Given the description of an element on the screen output the (x, y) to click on. 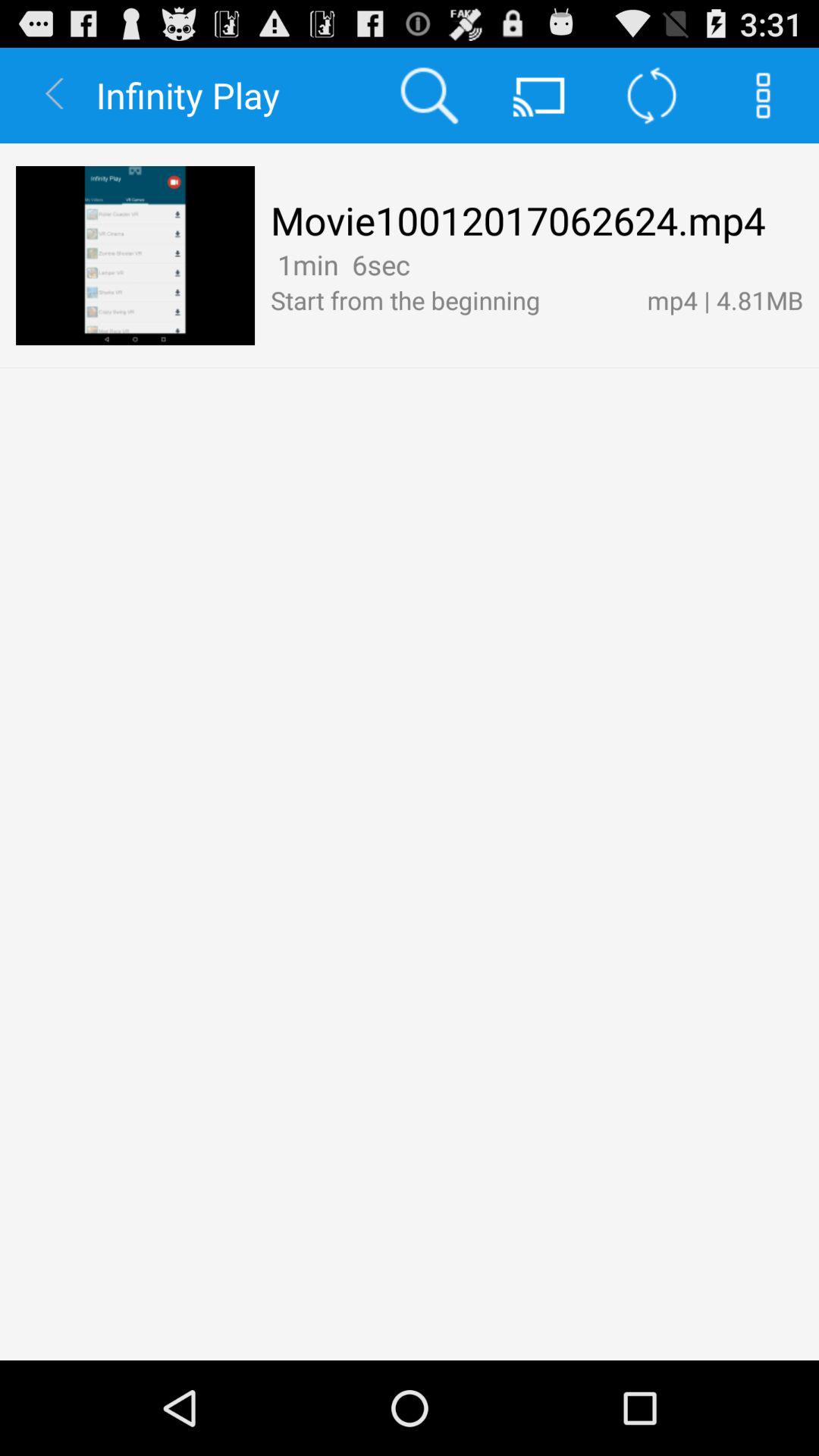
click app above start from the icon (340, 264)
